Given the description of an element on the screen output the (x, y) to click on. 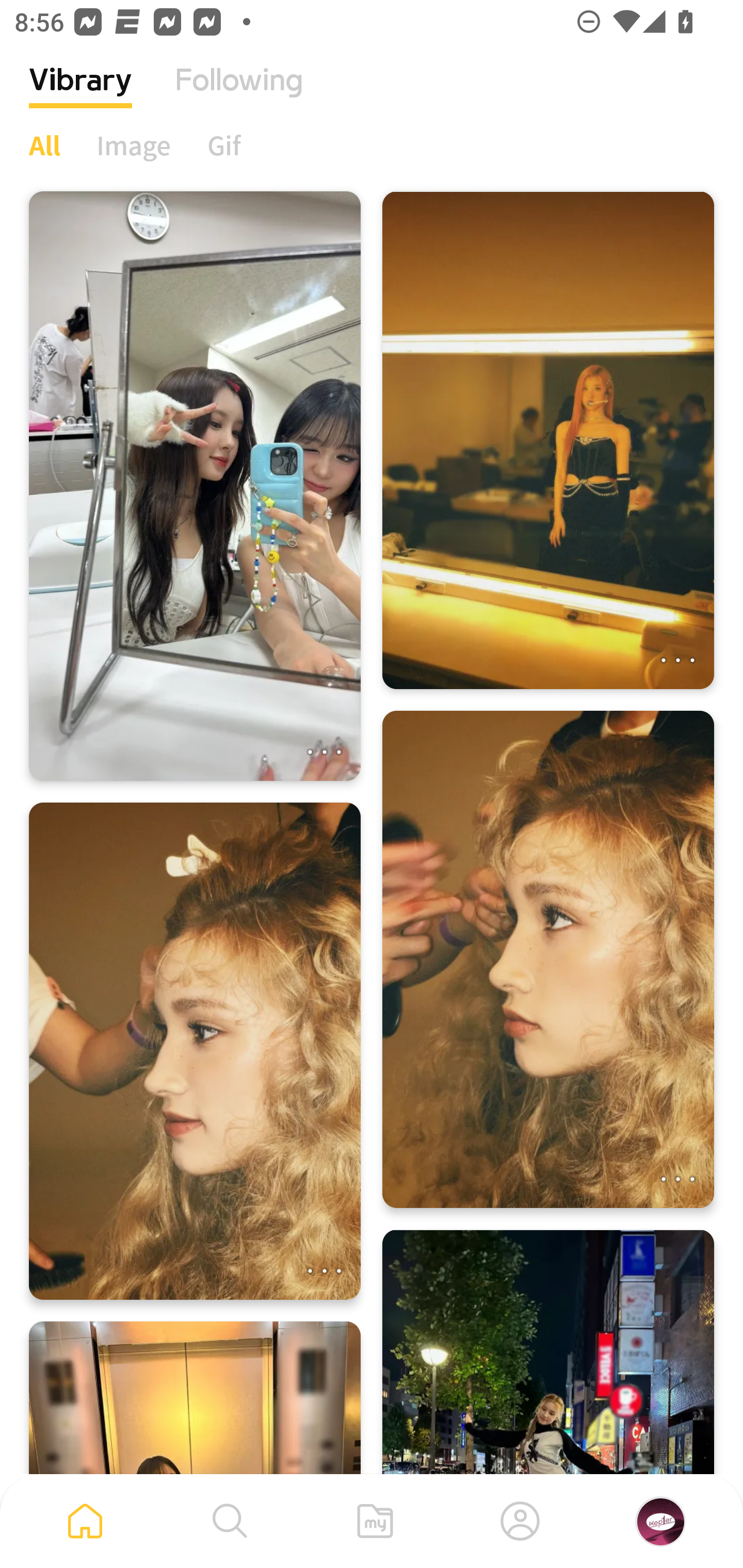
Vibrary (80, 95)
Following (239, 95)
All (44, 145)
Image (133, 145)
Gif (223, 145)
